Given the description of an element on the screen output the (x, y) to click on. 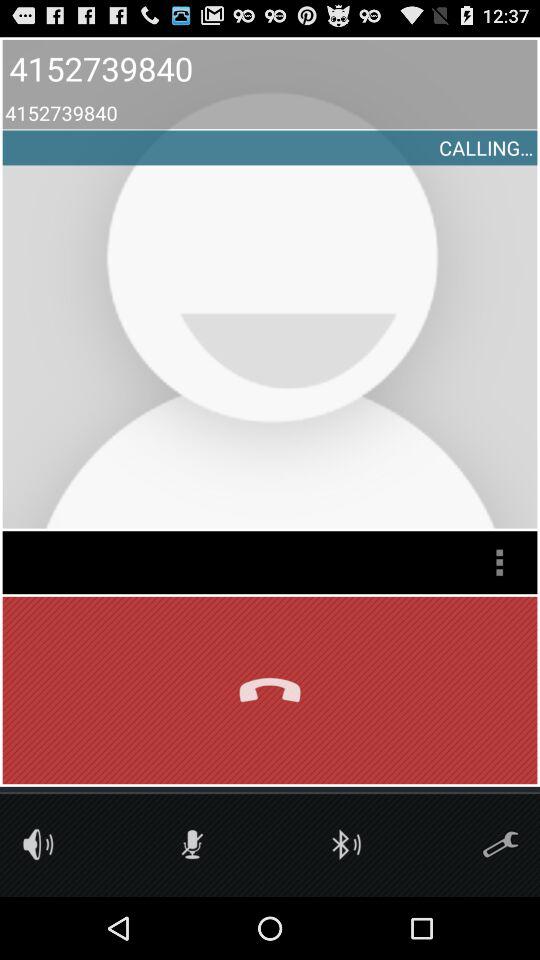
tools icon to help you (500, 844)
